Given the description of an element on the screen output the (x, y) to click on. 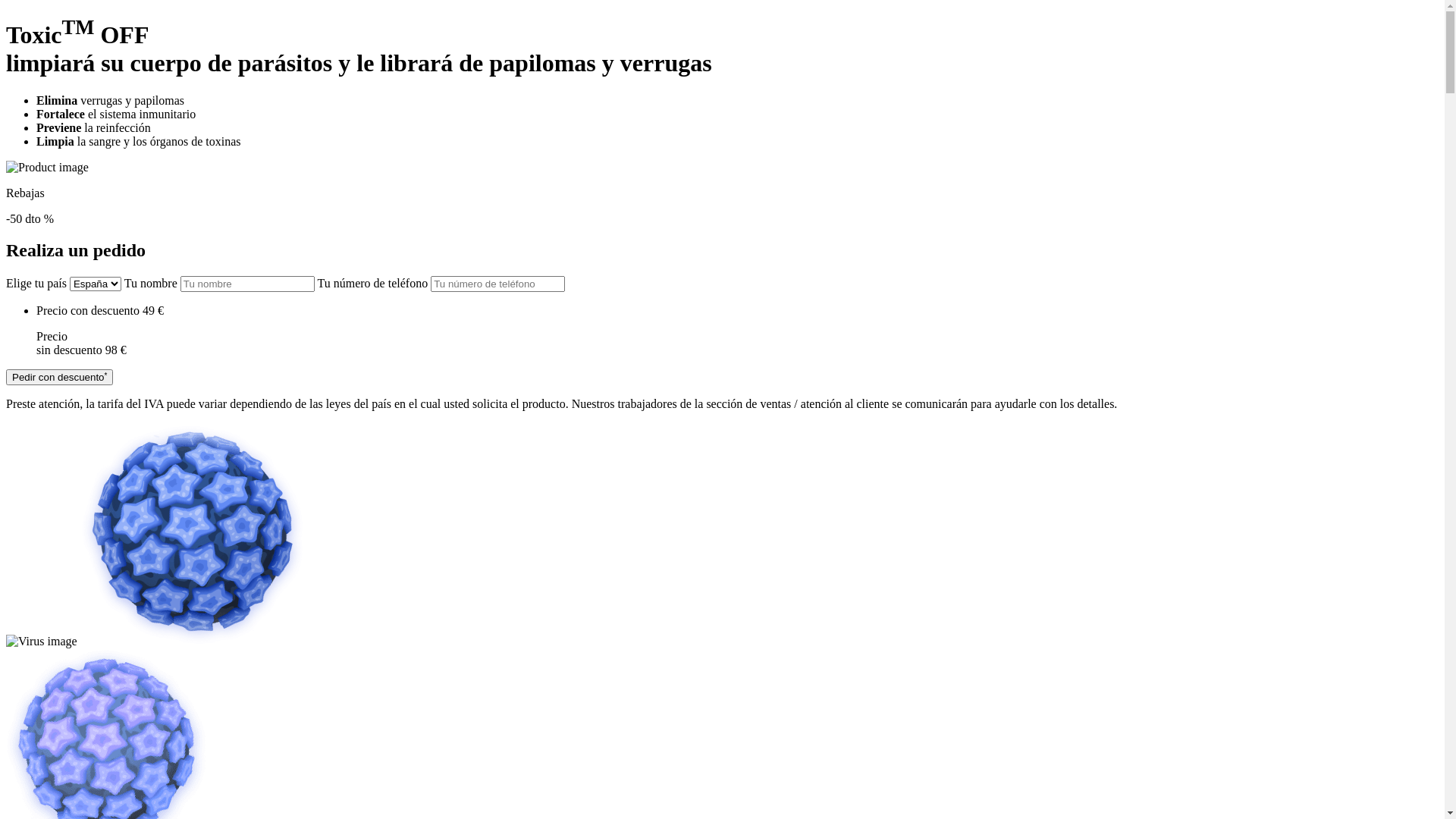
Pedir con descuento Element type: text (59, 377)
